Given the description of an element on the screen output the (x, y) to click on. 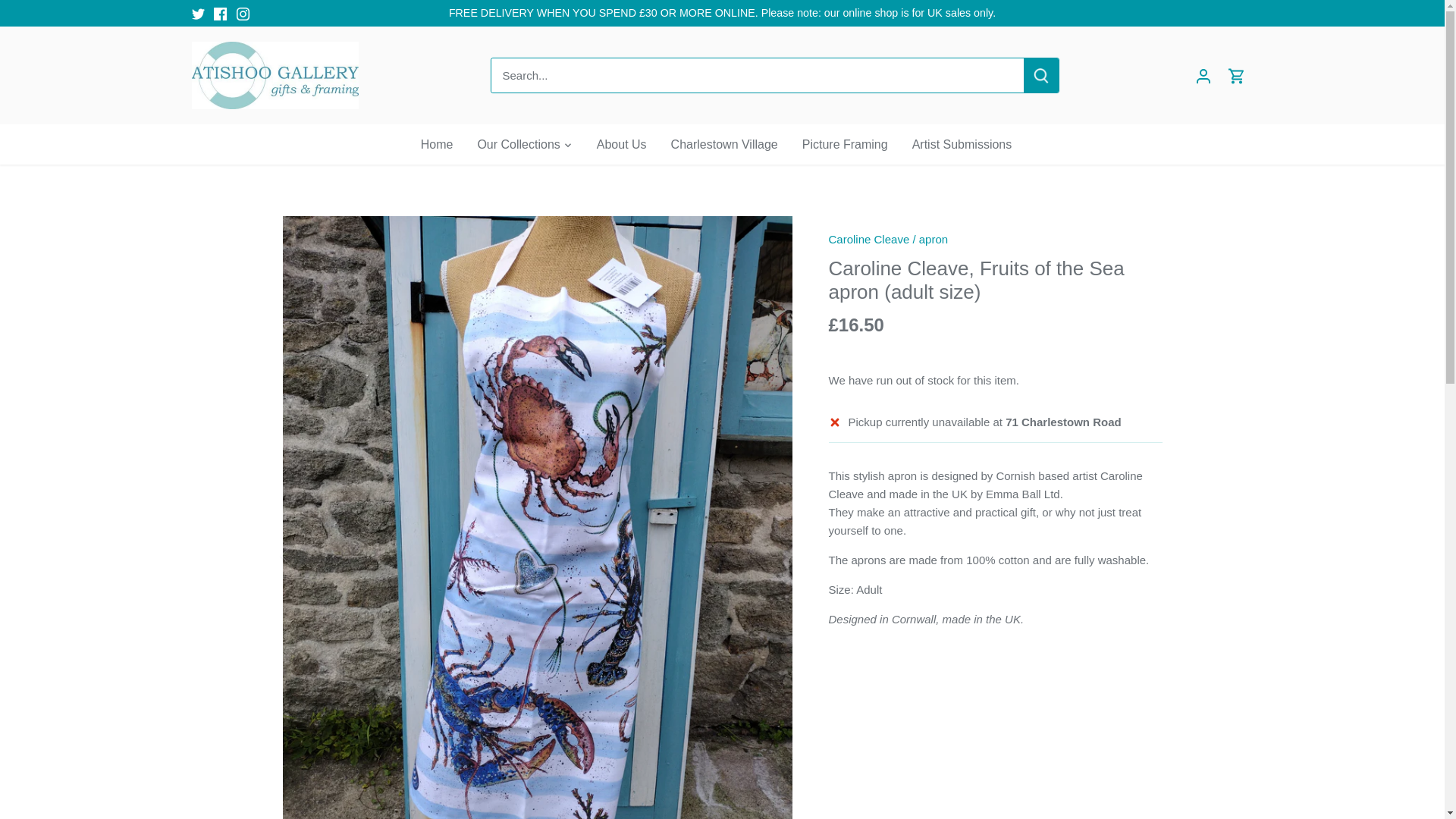
Facebook (220, 13)
Our Collections (518, 144)
Twitter (196, 13)
Instagram (241, 13)
Home (442, 144)
